Given the description of an element on the screen output the (x, y) to click on. 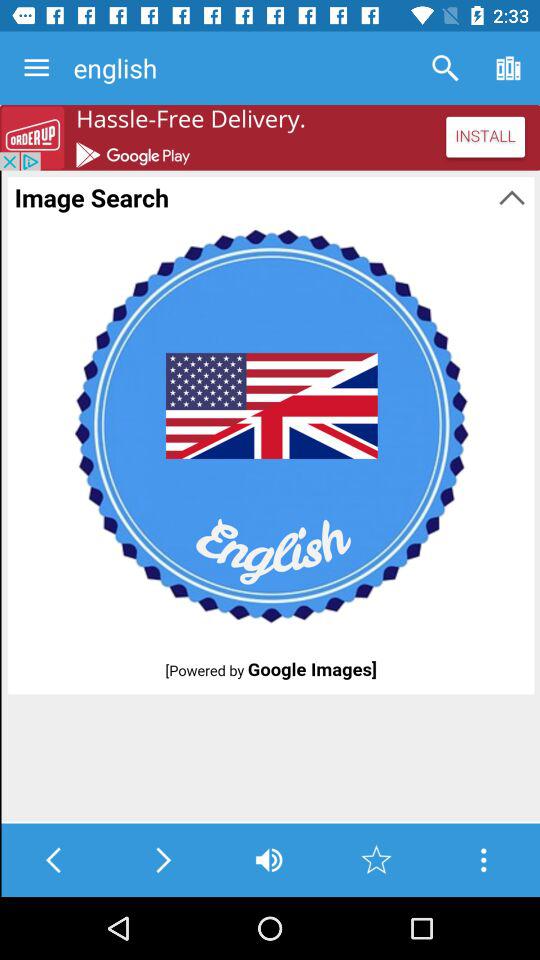
go to card (483, 859)
